Given the description of an element on the screen output the (x, y) to click on. 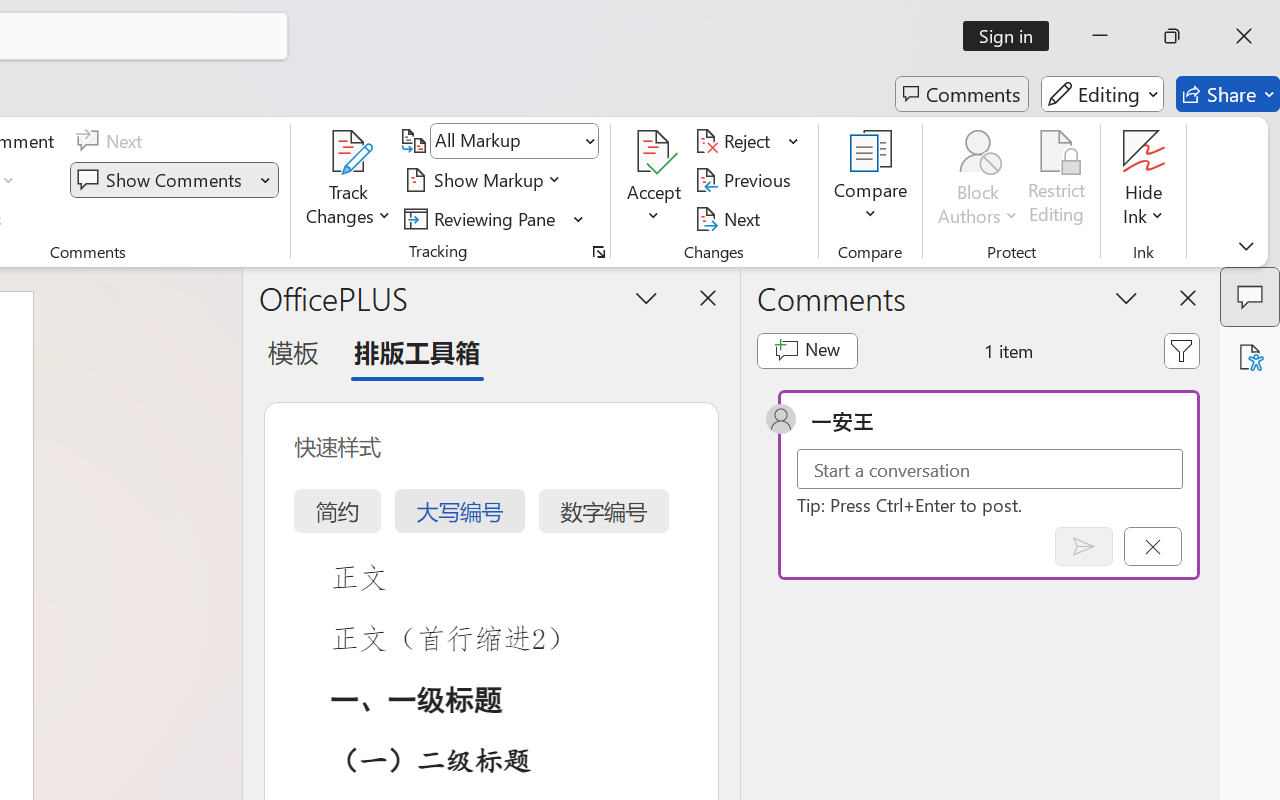
Accept and Move to Next (653, 151)
Hide Ink (1144, 151)
Show Comments (162, 179)
New comment (806, 350)
Accept (653, 179)
Reject (747, 141)
Start a conversation (990, 468)
